Given the description of an element on the screen output the (x, y) to click on. 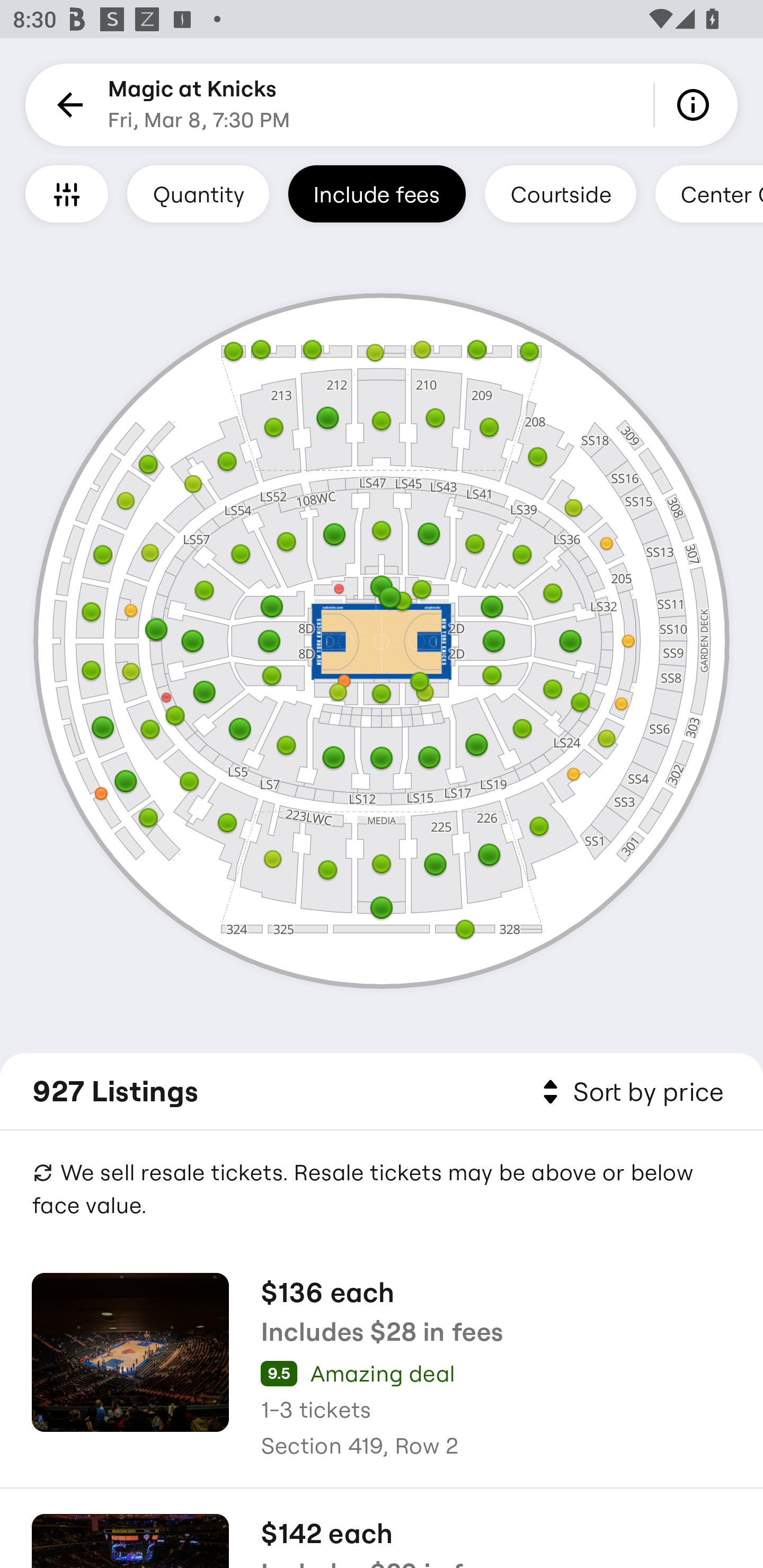
Back (66, 104)
Magic at Knicks Fri, Mar 8, 7:30 PM (198, 104)
Info (695, 104)
Filters and Accessible Seating (66, 193)
Quantity (198, 193)
Include fees (376, 193)
Courtside (560, 193)
Sort by price (629, 1091)
